Given the description of an element on the screen output the (x, y) to click on. 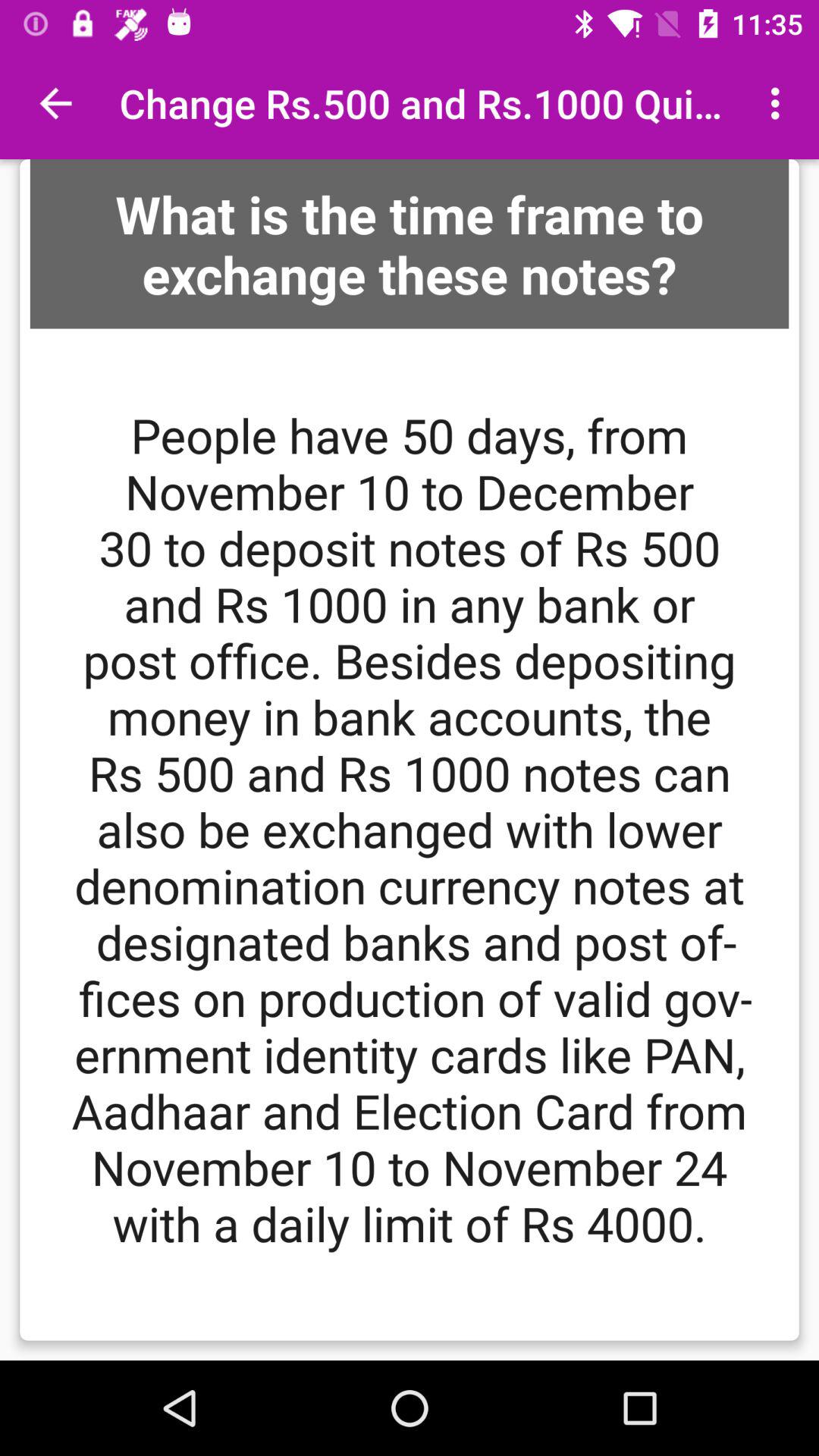
turn off item to the left of the change rs 500 app (55, 103)
